Given the description of an element on the screen output the (x, y) to click on. 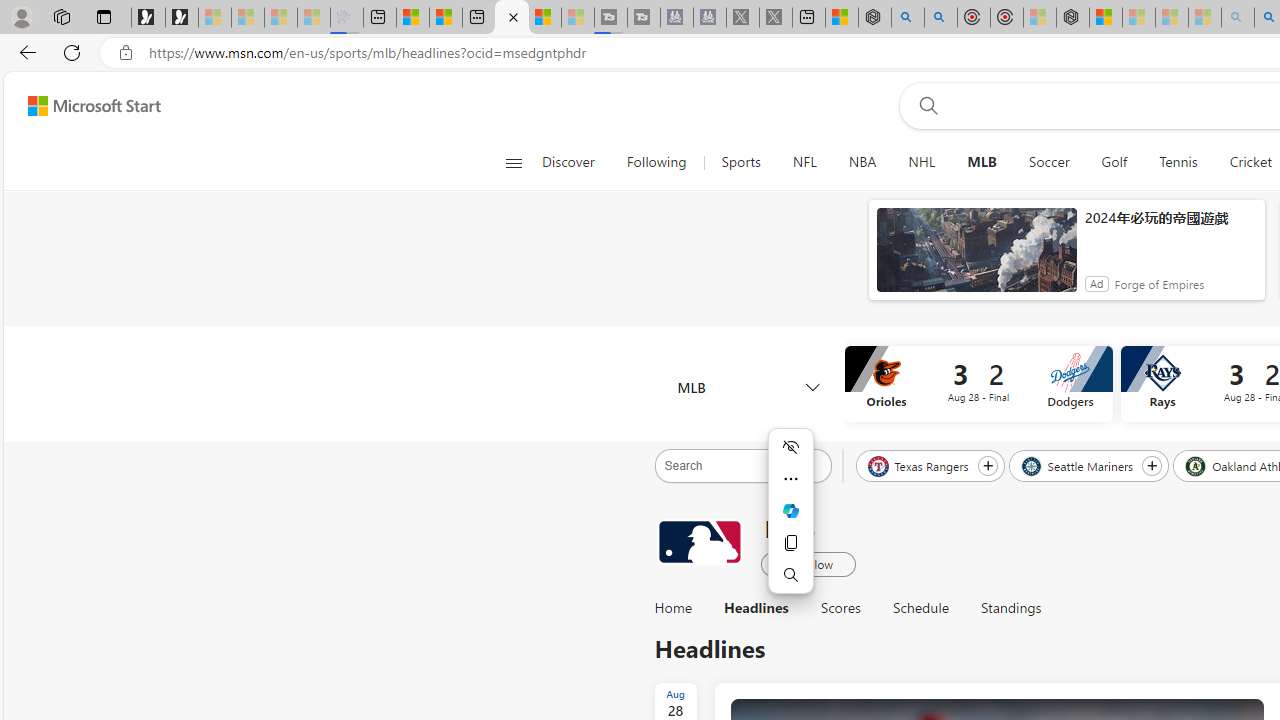
More actions (790, 478)
Open navigation menu (513, 162)
NFL (804, 162)
Scores (840, 607)
Standings (1010, 607)
Tennis (1178, 162)
Copy (790, 542)
